Given the description of an element on the screen output the (x, y) to click on. 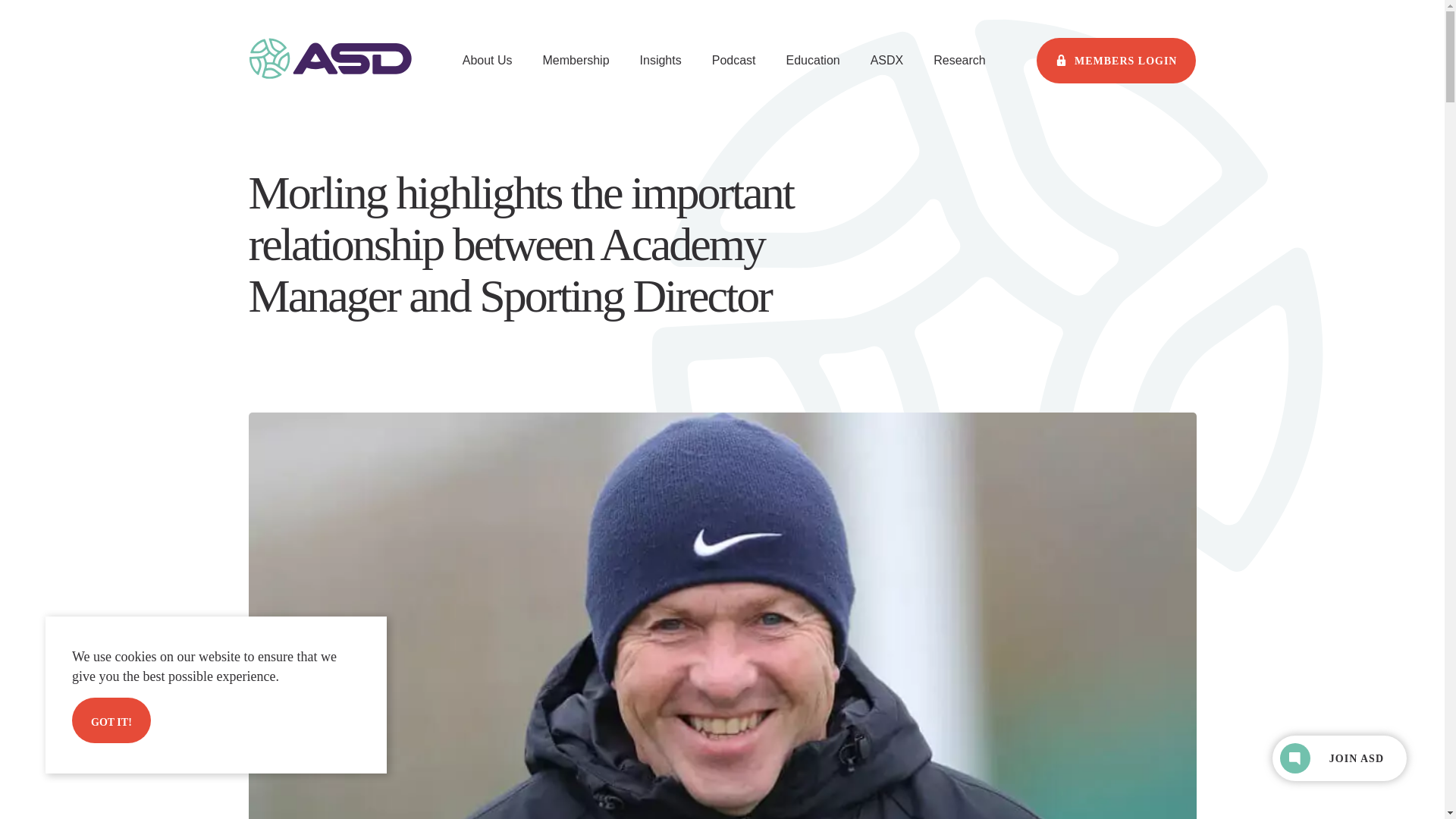
JOIN ASD (1339, 758)
Education (813, 60)
Research (959, 60)
Podcast (733, 60)
GOT IT! (111, 719)
Membership (576, 60)
MEMBERS LOGIN (1116, 60)
Insights (660, 60)
About Us (487, 60)
